Given the description of an element on the screen output the (x, y) to click on. 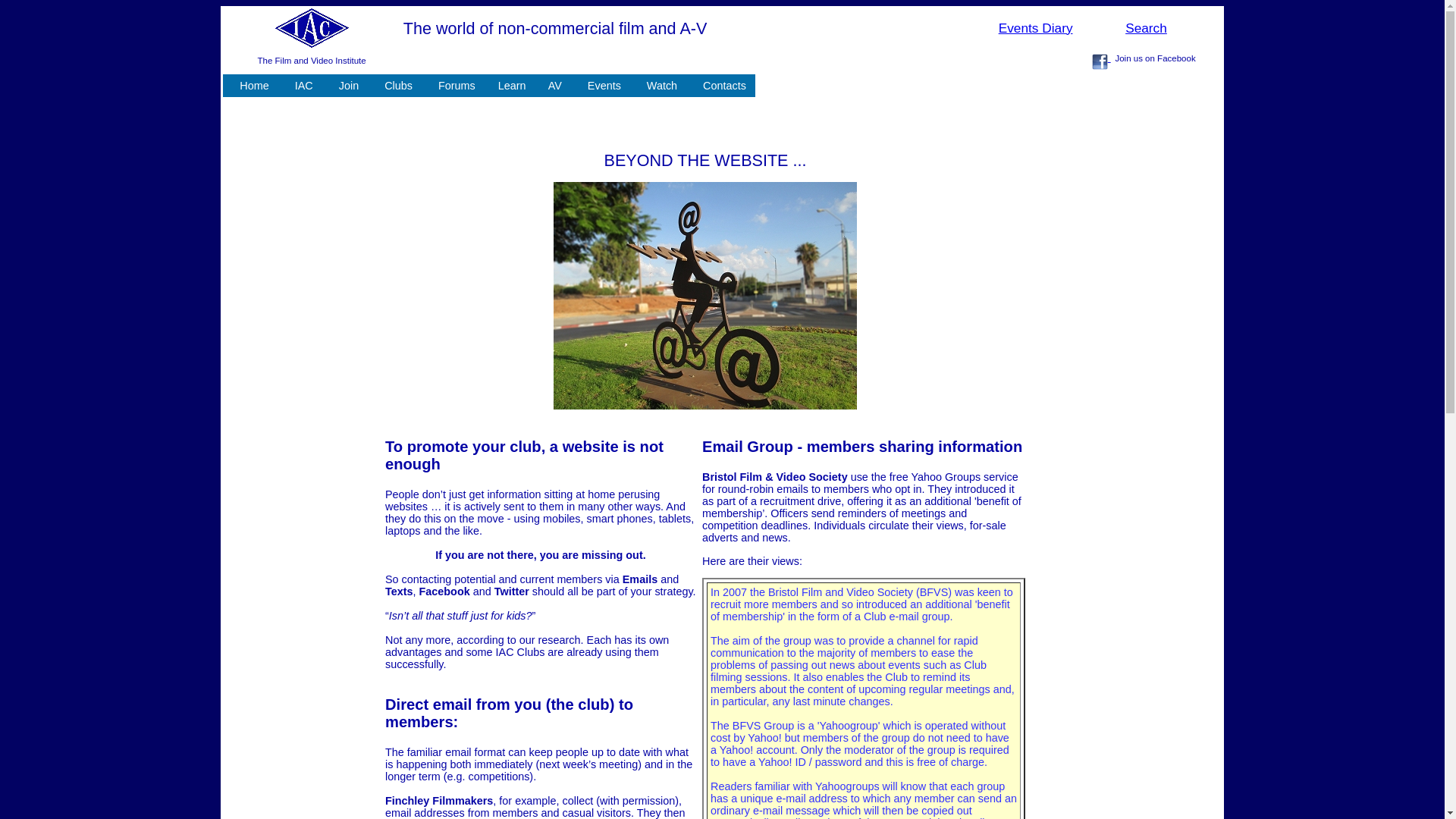
 Learn (509, 85)
Events Diary (1035, 28)
  Forums (453, 85)
  Clubs (395, 85)
 AV (552, 85)
  IAC (299, 85)
  Events (600, 85)
  Home (250, 85)
  Join (344, 85)
Search (1146, 28)
